Given the description of an element on the screen output the (x, y) to click on. 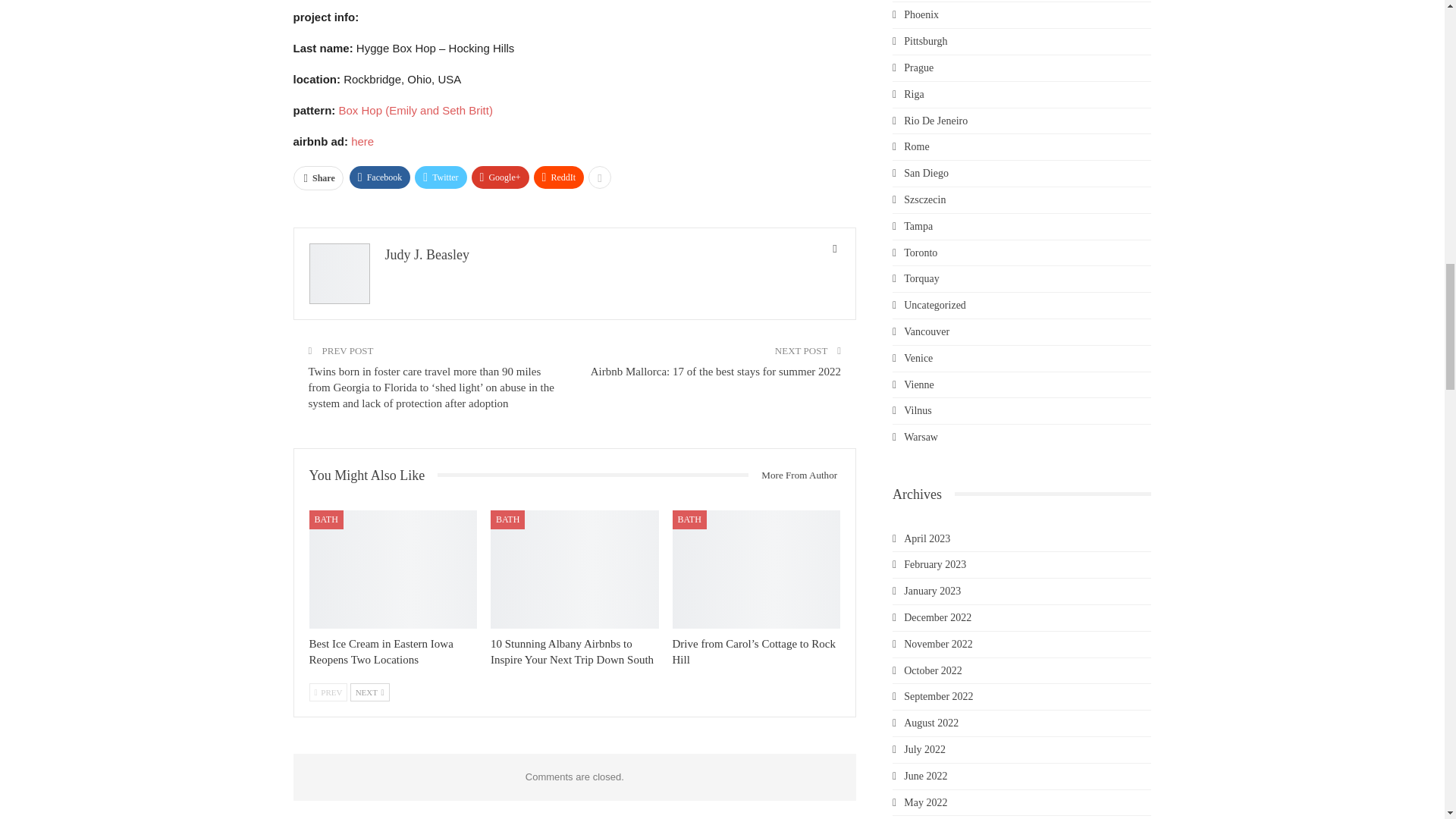
Facebook (379, 177)
Airbnb Mallorca: 17 of the best stays for summer 2022 (716, 371)
ReddIt (559, 177)
Best Ice Cream in Eastern Iowa Reopens Two Locations (392, 569)
Previous (327, 691)
Next (370, 691)
Best Ice Cream in Eastern Iowa Reopens Two Locations (380, 651)
Twitter (439, 177)
Judy J. Beasley (427, 254)
here (362, 141)
BATH (325, 519)
You Might Also Like (373, 475)
More From Author (794, 475)
